Given the description of an element on the screen output the (x, y) to click on. 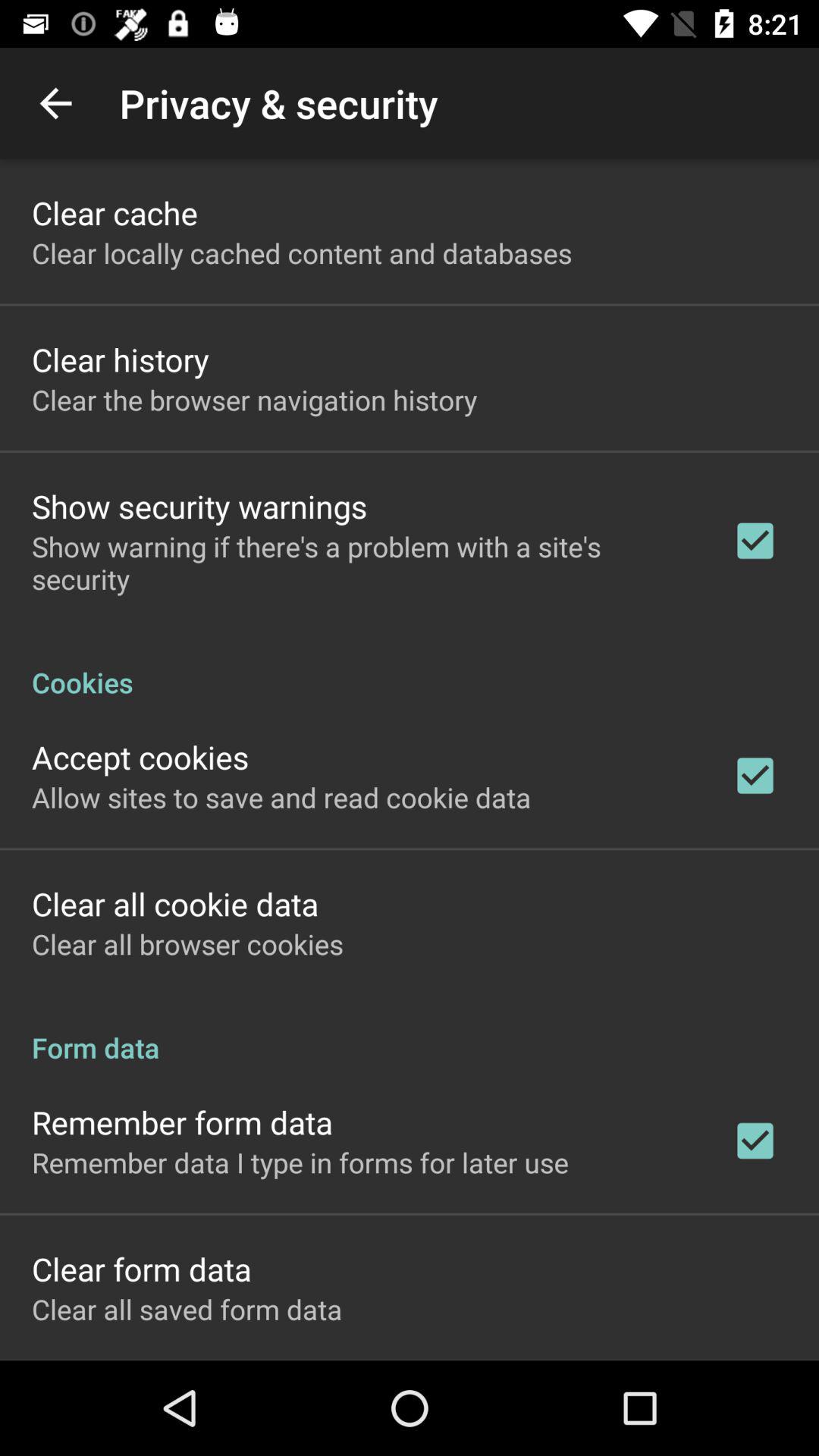
press the icon to the left of privacy & security (55, 103)
